Given the description of an element on the screen output the (x, y) to click on. 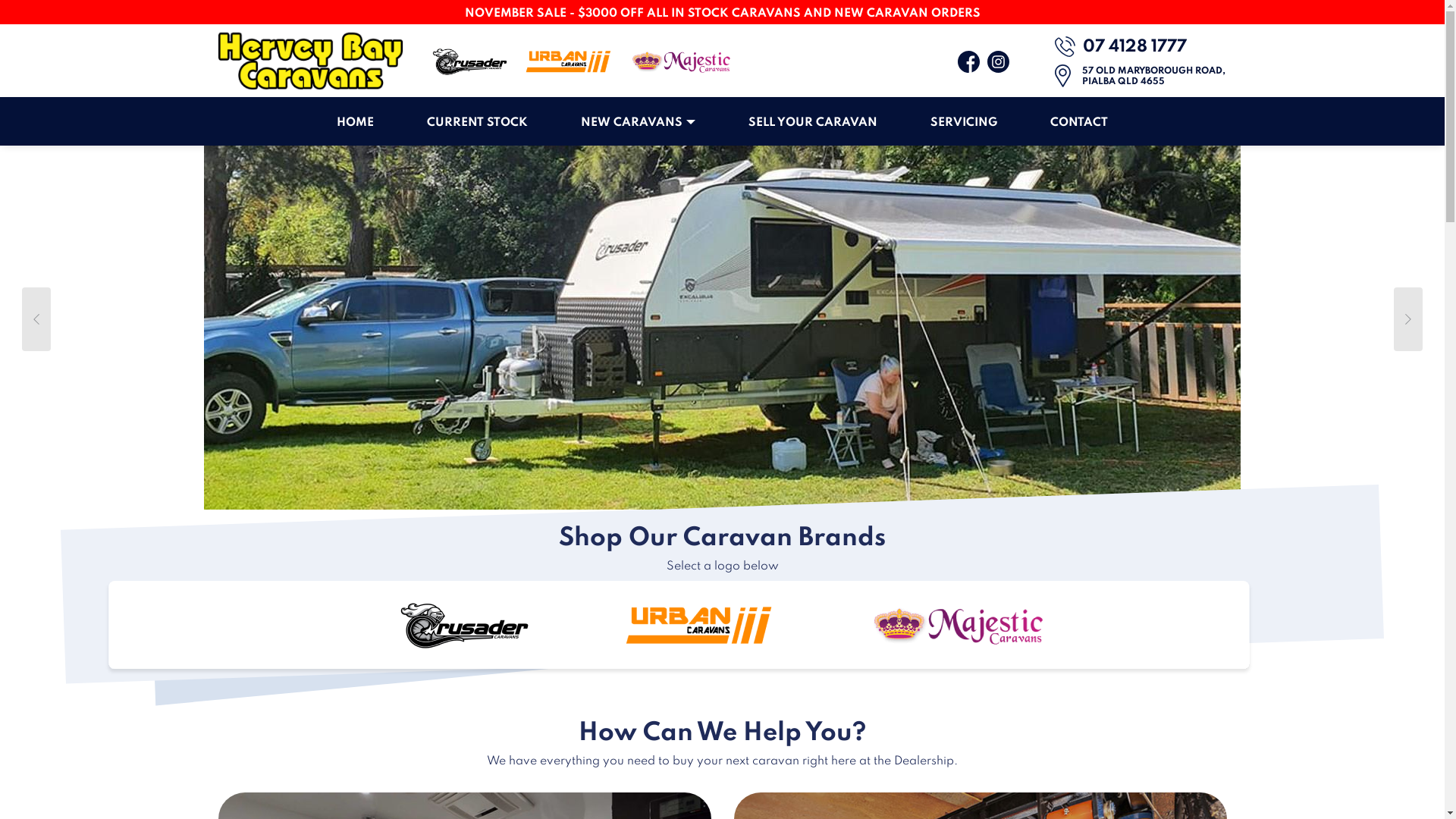
SELL YOUR CARAVAN Element type: text (812, 122)
07 4128 1777 Element type: text (1120, 46)
CONTACT Element type: text (1078, 122)
HOME Element type: text (354, 122)
SERVICING Element type: text (963, 122)
NEW CARAVANS Element type: text (638, 122)
CURRENT STOCK Element type: text (477, 122)
Next Element type: text (1335, 327)
57 OLD MARYBOROUGH ROAD,
PIALBA QLD 4655 Element type: text (1152, 76)
Previous Element type: text (108, 327)
